Given the description of an element on the screen output the (x, y) to click on. 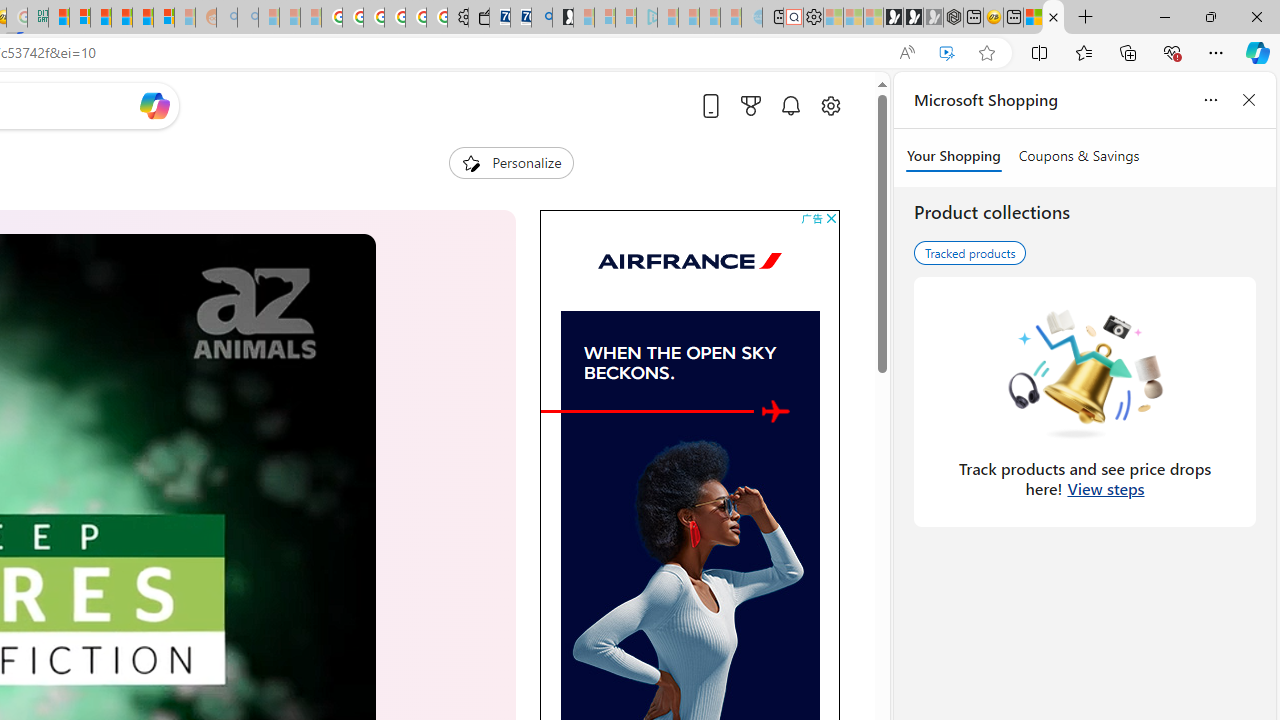
Open settings (830, 105)
Expert Portfolios (121, 17)
MSNBC - MSN (58, 17)
